Given the description of an element on the screen output the (x, y) to click on. 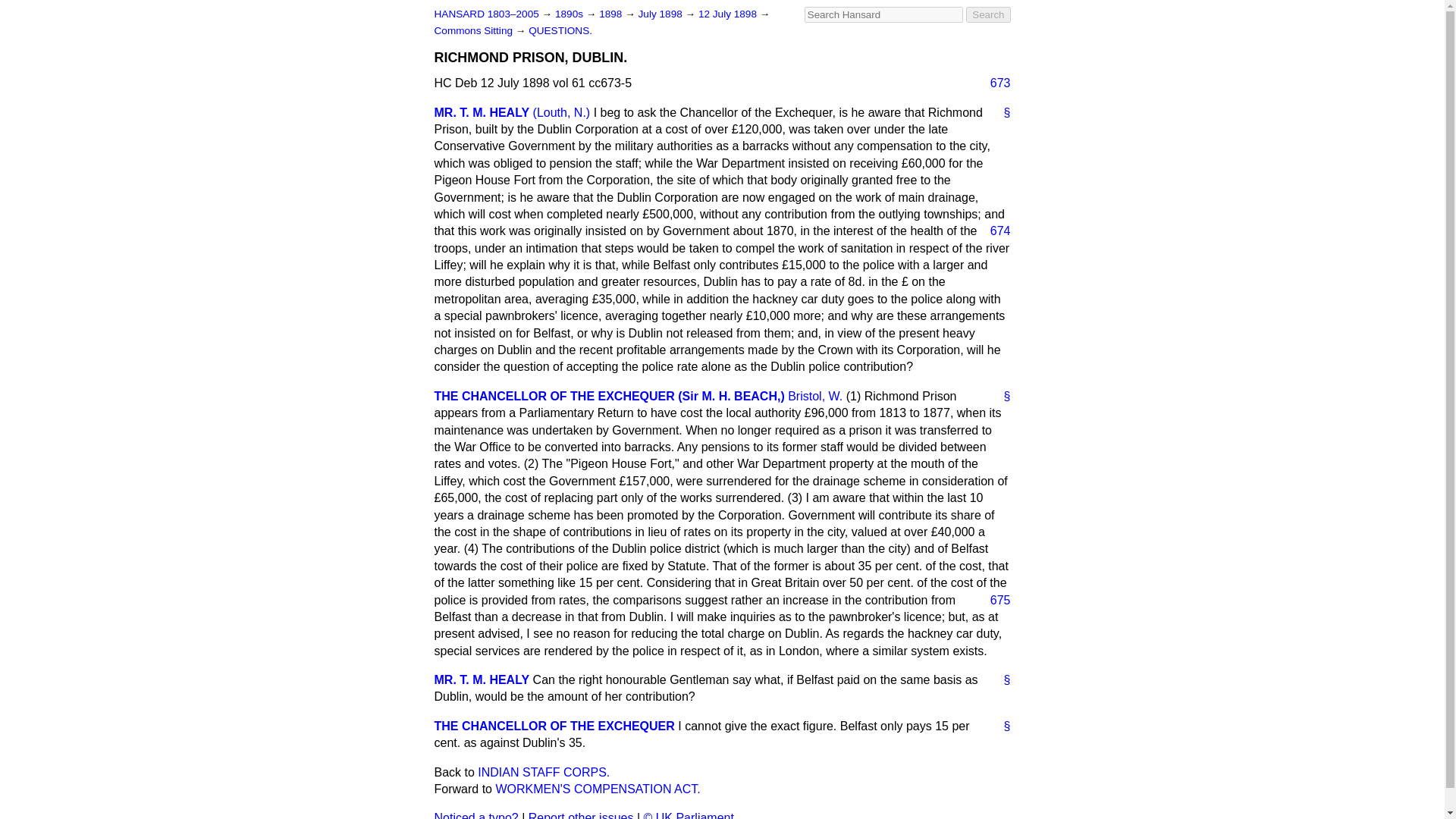
12 July 1898 (729, 13)
INDIAN STAFF CORPS. (543, 771)
WORKMEN'S COMPENSATION ACT. (597, 788)
675 (994, 599)
July 1898 (662, 13)
Mr Timothy Healy (481, 112)
Bristol, W. (815, 395)
Bristol West (815, 395)
Mr William Beach (553, 725)
Access key: S (883, 14)
